Given the description of an element on the screen output the (x, y) to click on. 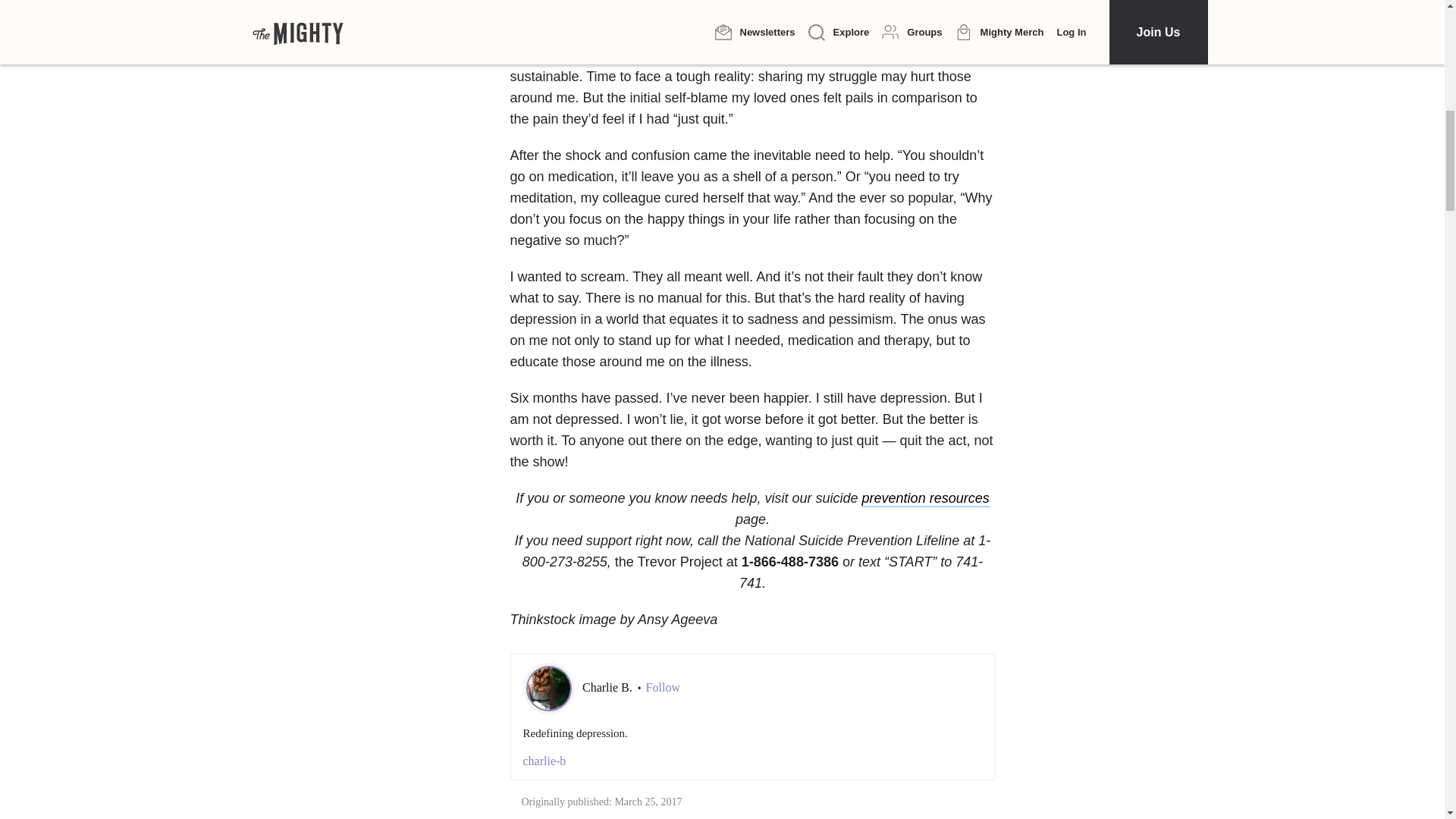
Charlie B. (608, 686)
charlie-b (752, 761)
prevention resources (925, 498)
Follow (662, 687)
